Given the description of an element on the screen output the (x, y) to click on. 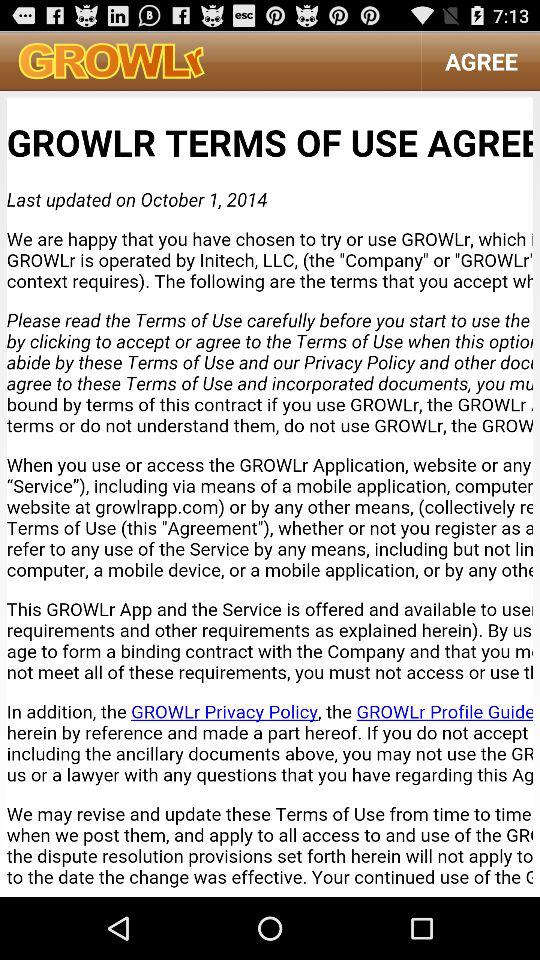
growlr terms of use agreement (269, 493)
